Given the description of an element on the screen output the (x, y) to click on. 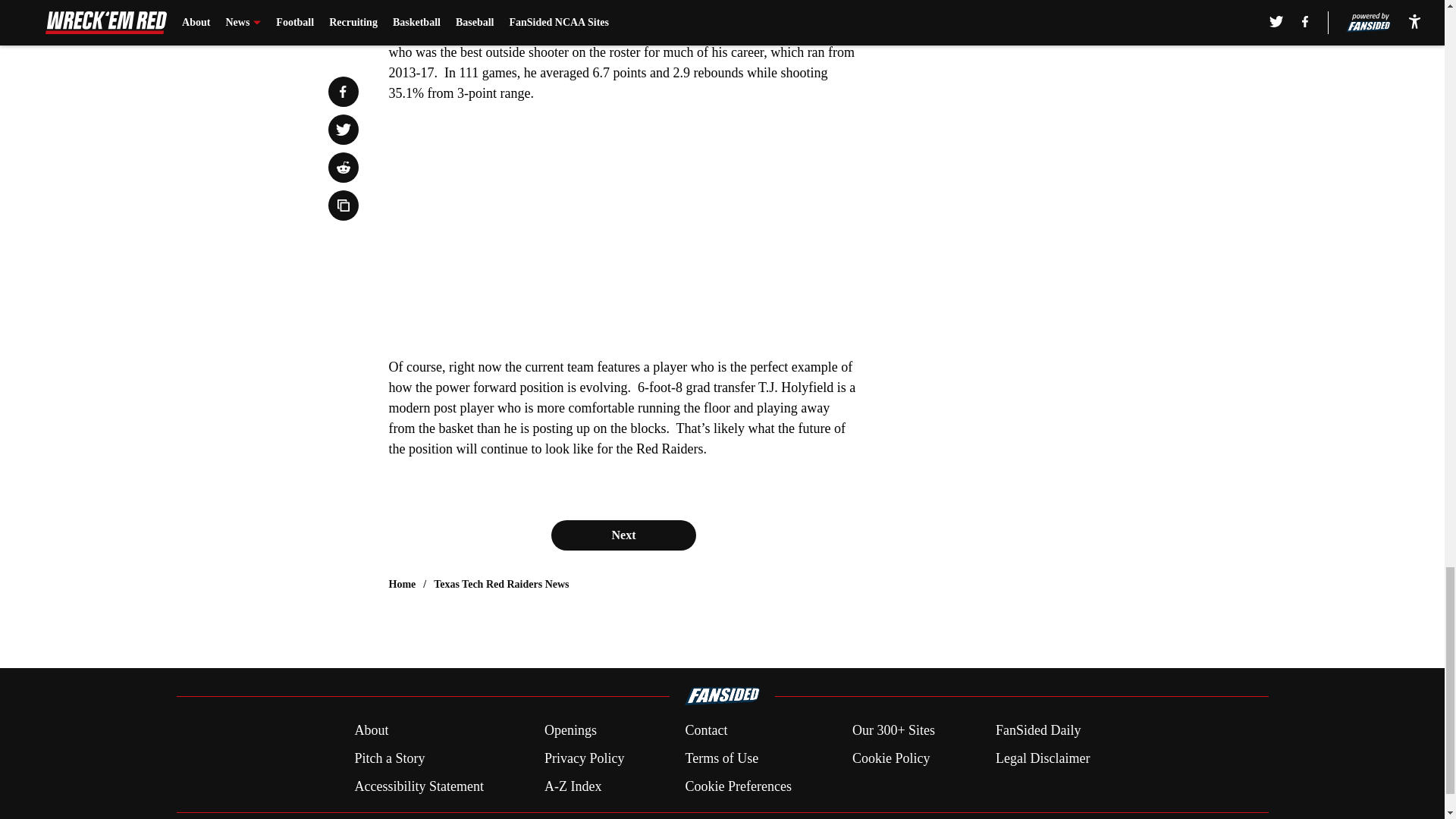
Legal Disclaimer (1042, 758)
Accessibility Statement (418, 786)
Texas Tech Red Raiders News (501, 584)
About (370, 730)
Pitch a Story (389, 758)
FanSided Daily (1038, 730)
Next (622, 535)
Cookie Policy (890, 758)
Contact (705, 730)
Terms of Use (721, 758)
